Given the description of an element on the screen output the (x, y) to click on. 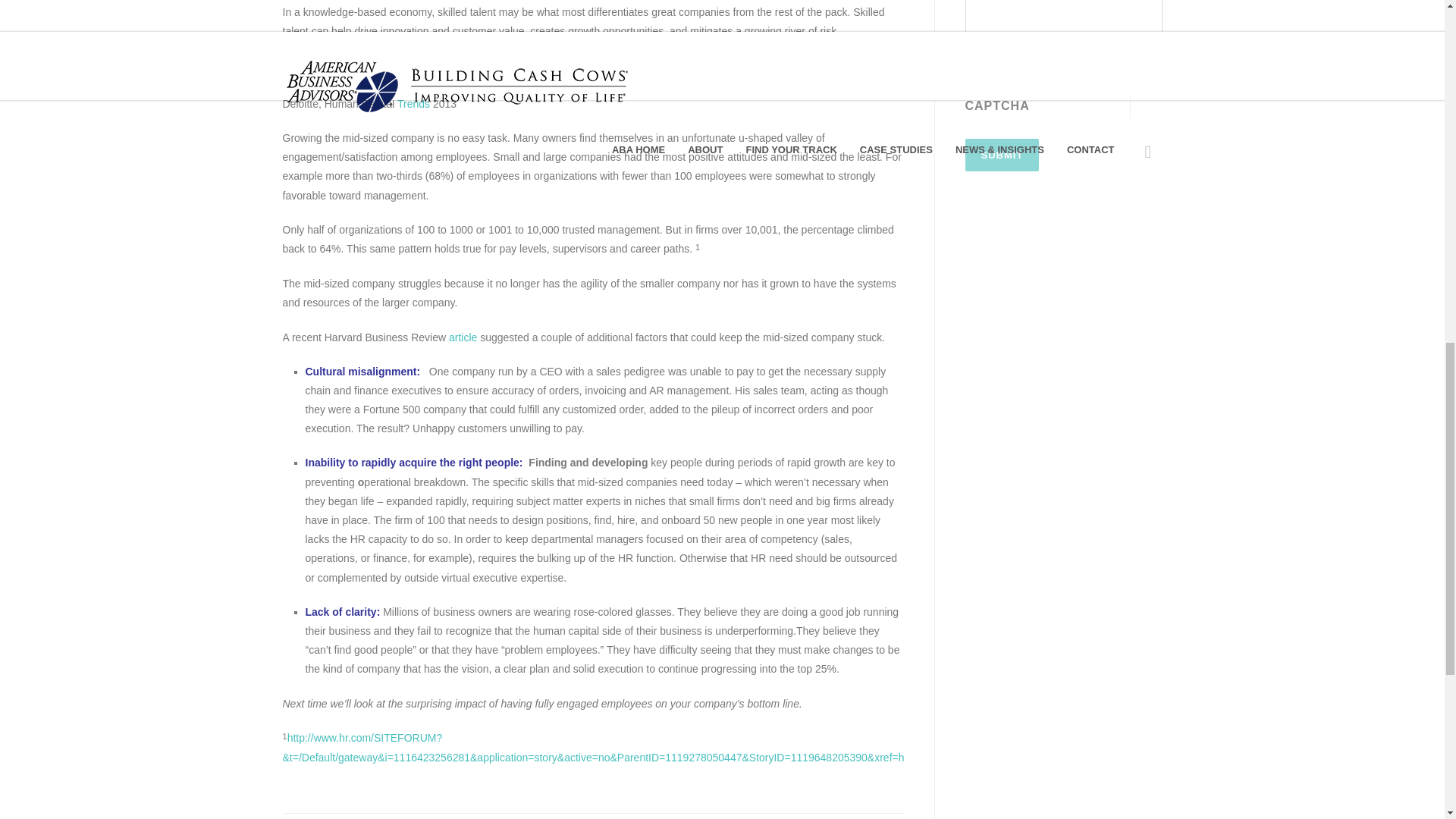
Submit (1001, 154)
